Given the description of an element on the screen output the (x, y) to click on. 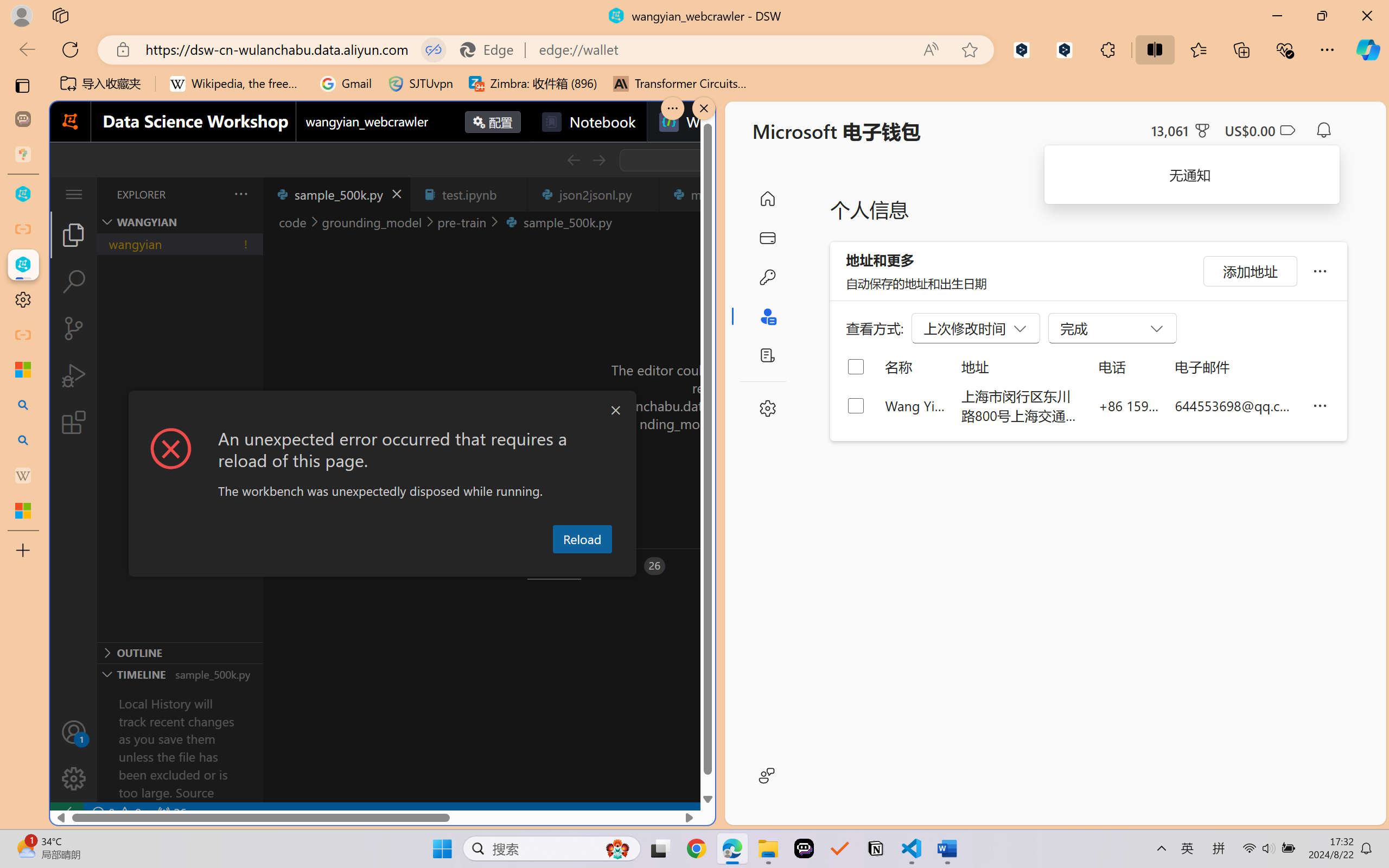
Problems (Ctrl+Shift+M) (308, 565)
Microsoft security help and learning (22, 369)
No Problems (115, 812)
Accounts - Sign in requested (73, 732)
Explorer (Ctrl+Shift+E) (73, 234)
Gmail (345, 83)
